Given the description of an element on the screen output the (x, y) to click on. 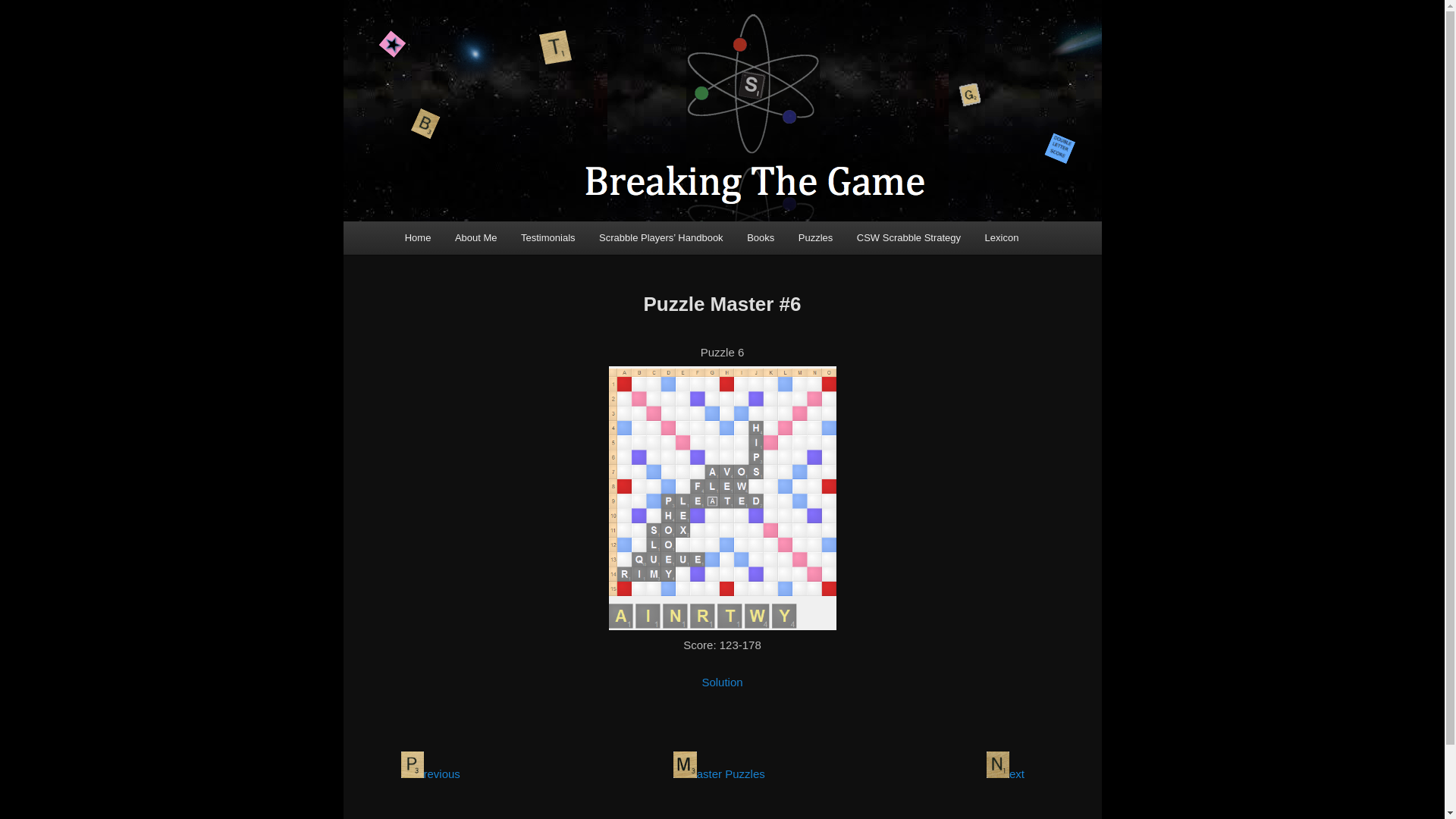
Articles (908, 237)
Breaking the Game (503, 53)
Books (760, 237)
Breaking the Game (503, 53)
Testimonials (547, 237)
CSW Scrabble Strategy (908, 237)
Puzzles (815, 237)
revious (430, 773)
Home (417, 237)
Lexicon (1001, 237)
Solution (721, 681)
ext (1006, 773)
About Me (475, 237)
